Given the description of an element on the screen output the (x, y) to click on. 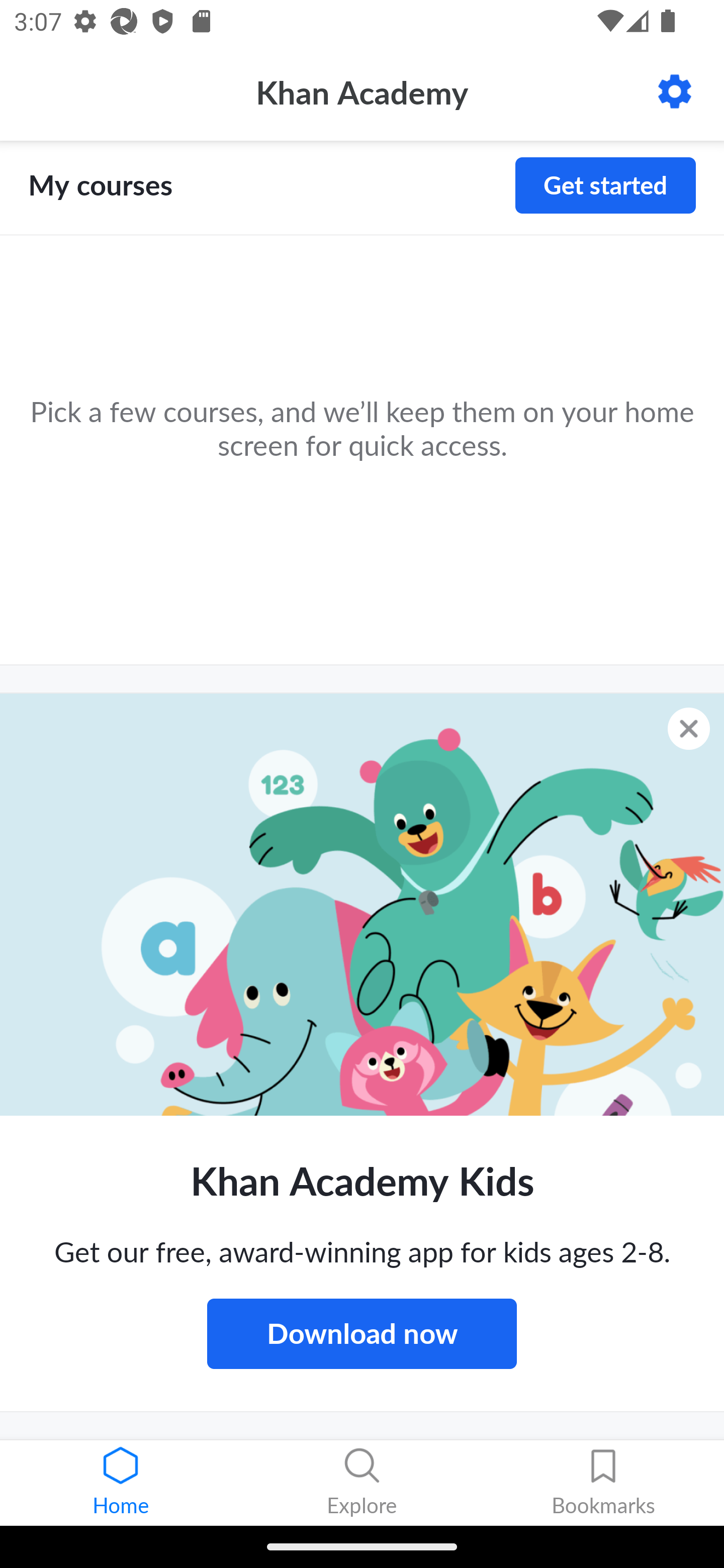
Settings (674, 91)
Get started (605, 184)
Dismiss (688, 728)
Download now (361, 1333)
Home (120, 1482)
Explore (361, 1482)
Bookmarks (603, 1482)
